Given the description of an element on the screen output the (x, y) to click on. 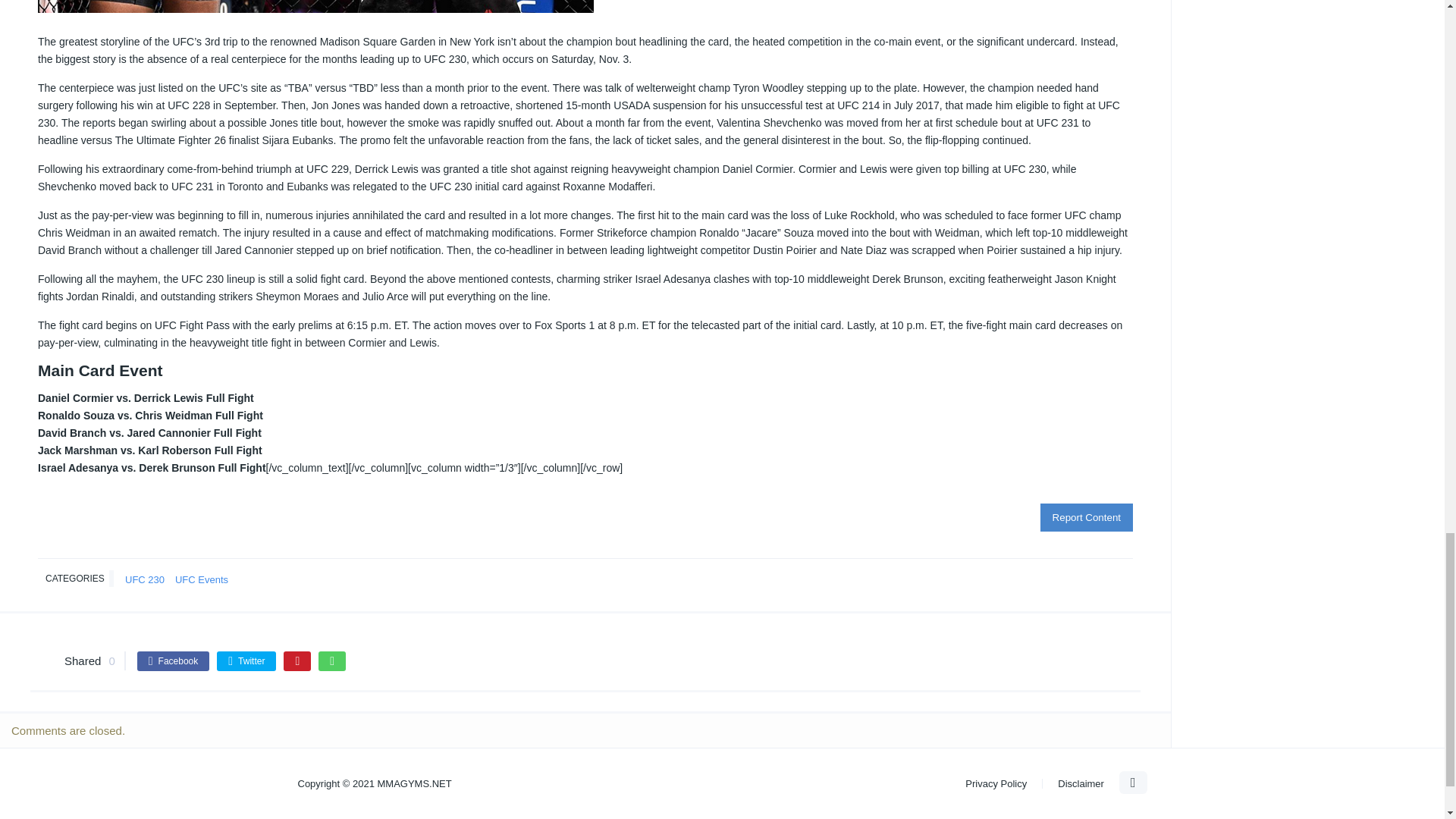
Twitter (246, 660)
Facebook (172, 660)
Privacy Policy (995, 783)
Disclaimer (1080, 783)
UFC 230 (144, 579)
Report Content (1086, 517)
UFC Events (201, 579)
